Given the description of an element on the screen output the (x, y) to click on. 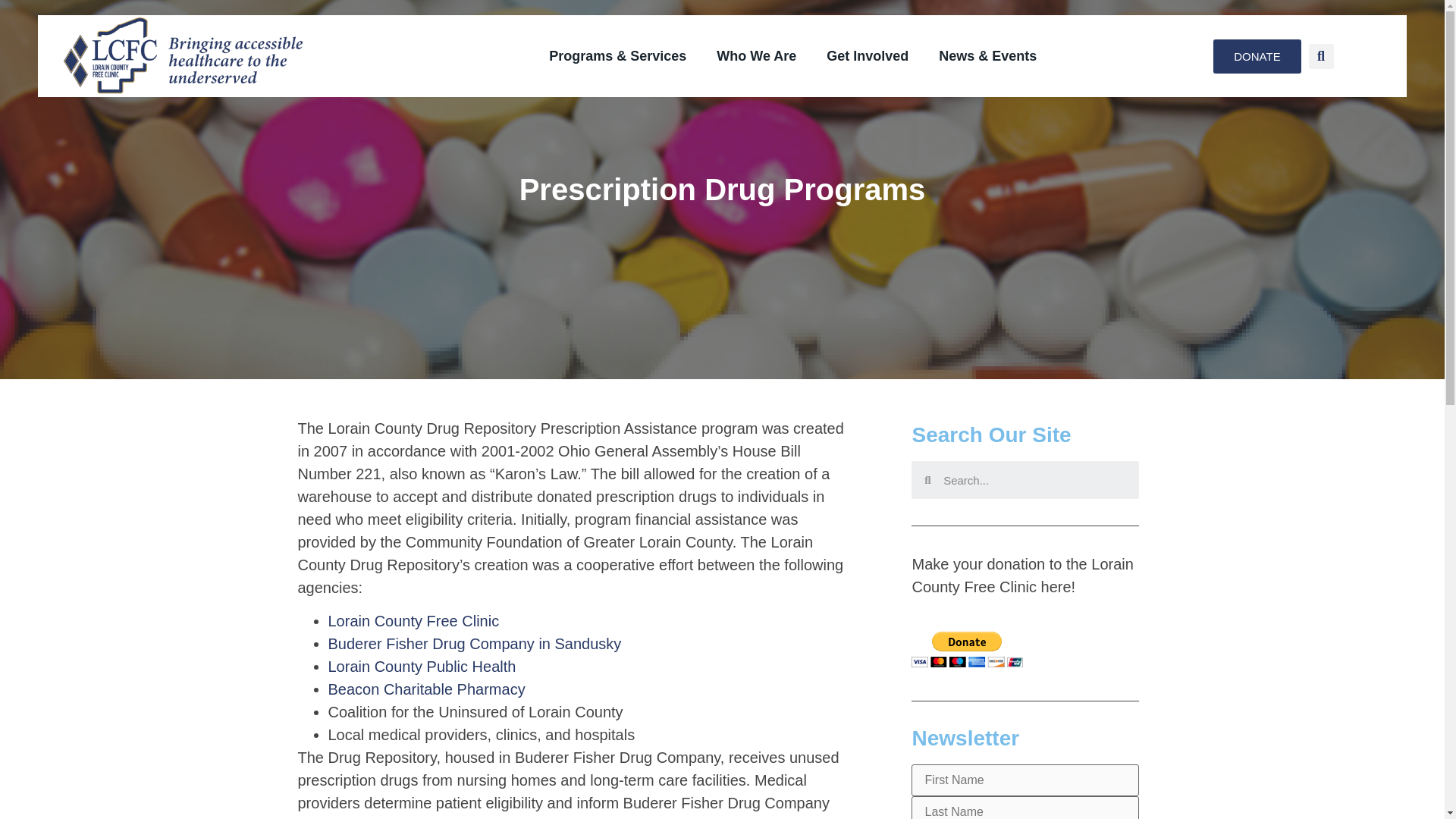
PayPal - The safer, easier way to pay online! (967, 649)
Who We Are (755, 56)
Get Involved (866, 56)
Search (1034, 479)
